Given the description of an element on the screen output the (x, y) to click on. 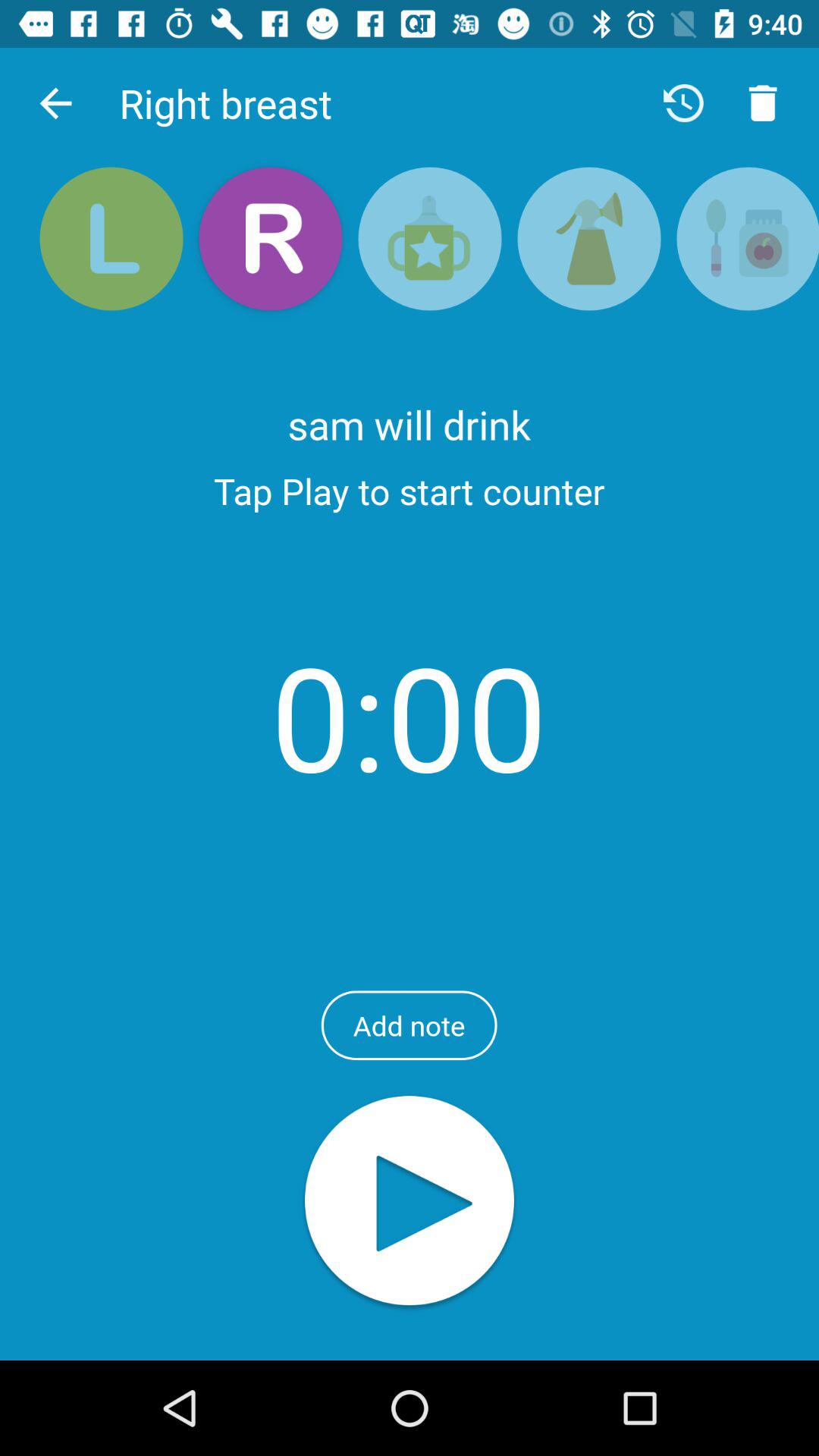
tap icon to play (409, 1202)
